Given the description of an element on the screen output the (x, y) to click on. 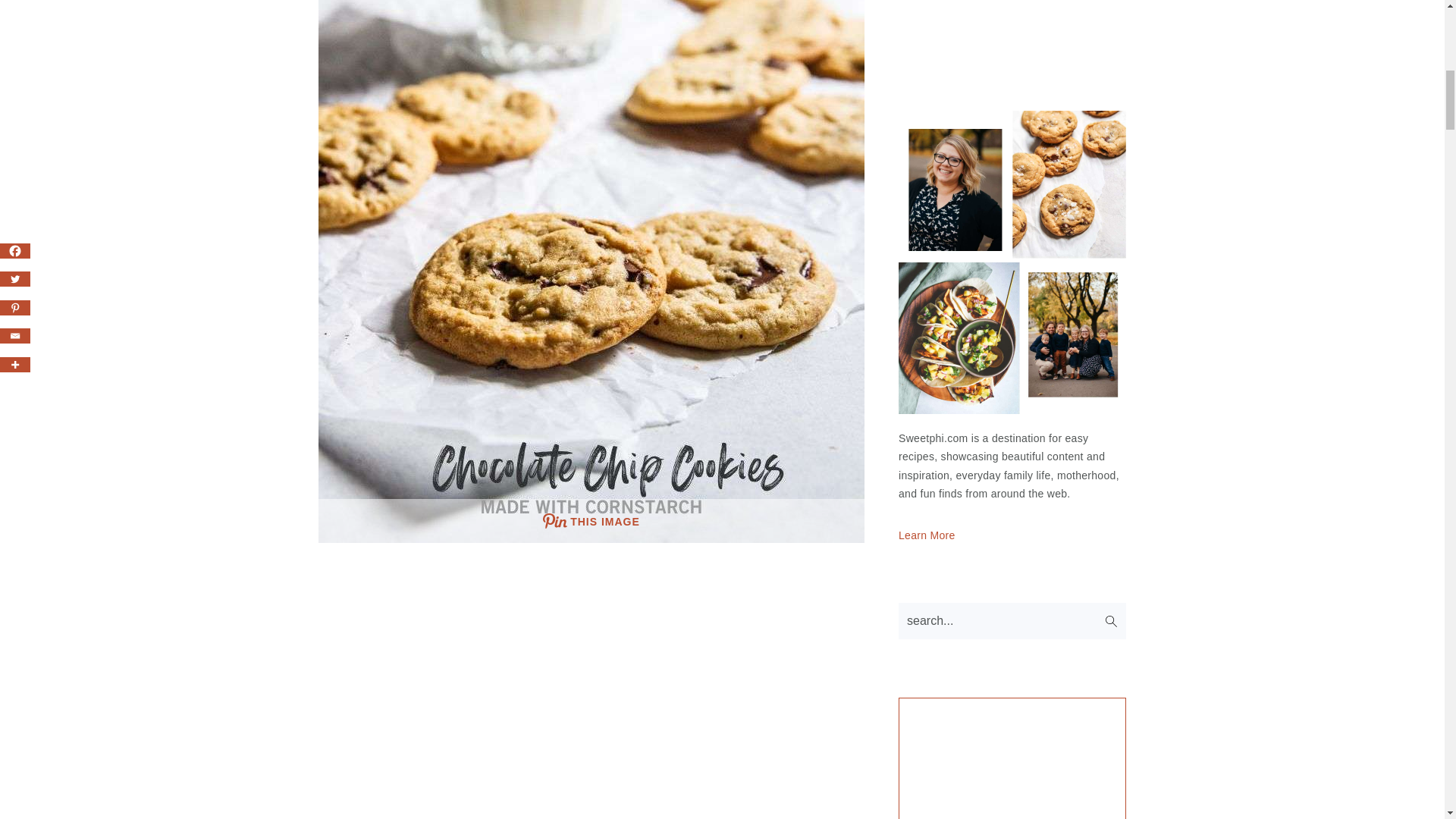
THIS IMAGE (591, 520)
